Given the description of an element on the screen output the (x, y) to click on. 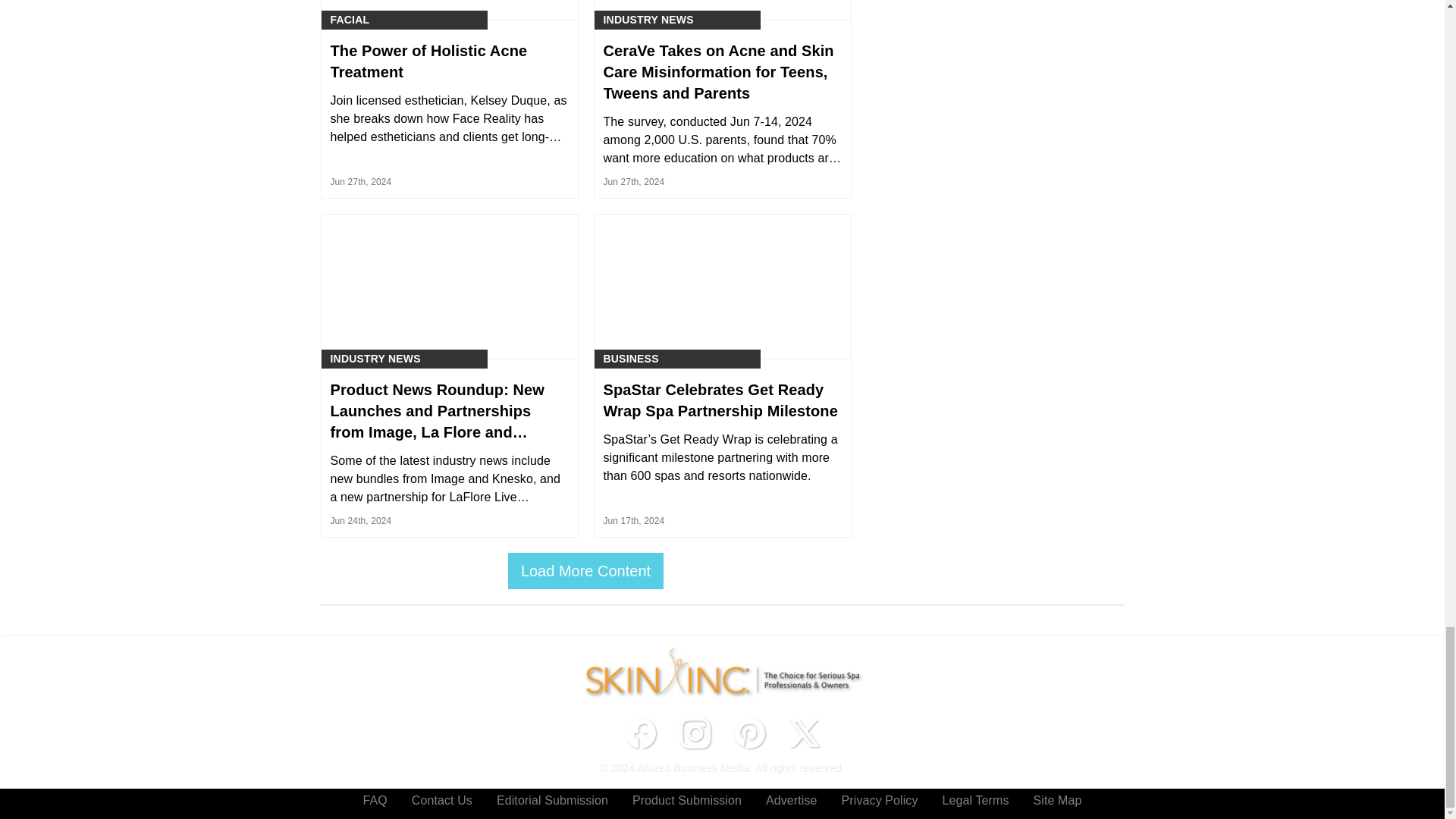
Instagram icon (694, 733)
Twitter X icon (803, 733)
Facebook icon (639, 733)
Pinterest icon (748, 733)
